Given the description of an element on the screen output the (x, y) to click on. 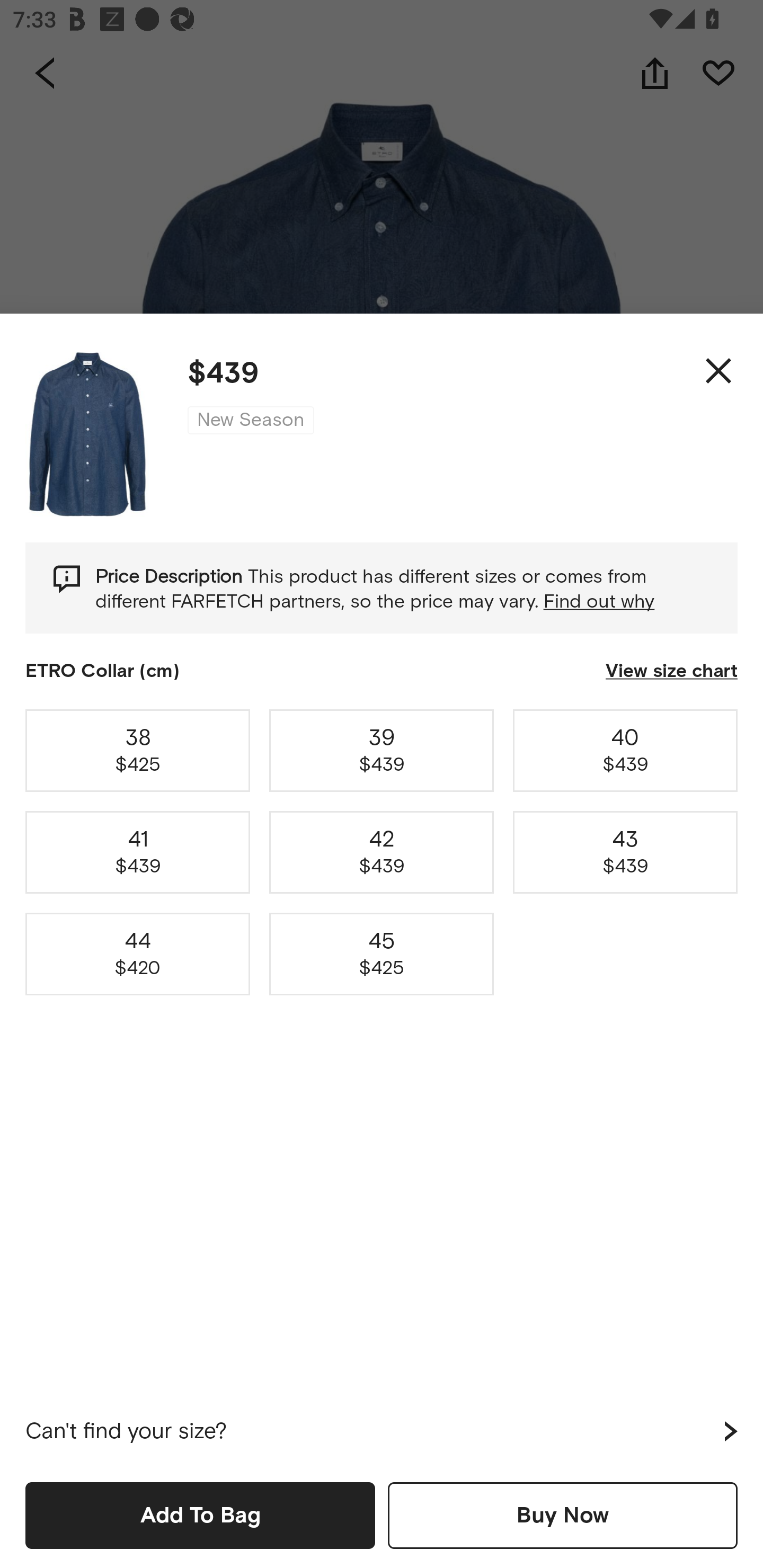
38 $425 (137, 749)
39 $439 (381, 749)
40 $439 (624, 749)
41 $439 (137, 851)
42 $439 (381, 851)
43 $439 (624, 851)
44 $420 (137, 953)
45 $425 (381, 953)
Can't find your size? (381, 1431)
Add To Bag (200, 1515)
Buy Now (562, 1515)
